Given the description of an element on the screen output the (x, y) to click on. 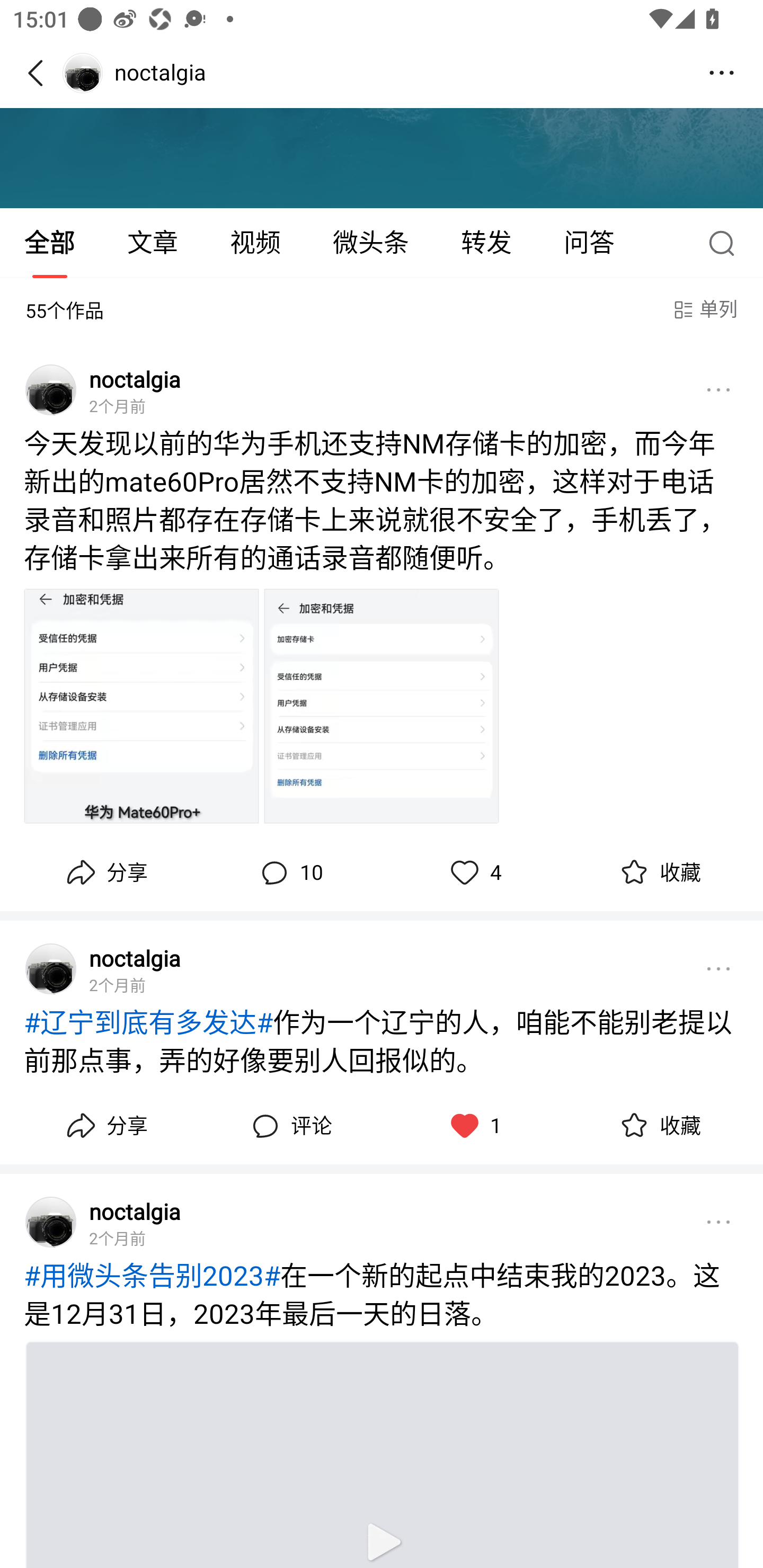
更多操作 (721, 72)
私信 (101, 76)
全部 (50, 242)
文章 (152, 242)
视频 (254, 242)
微头条 (370, 242)
转发 (485, 242)
问答 (588, 242)
搜索 (726, 242)
单列 当前单列点按切换至双列 (703, 310)
noctalgia (134, 378)
noctalgia头像 (50, 389)
更多 (718, 389)
内容图片1，点击识别 (141, 705)
内容图片2，点击识别 (381, 705)
分享 (104, 872)
评论,10 10 (288, 872)
,收藏 收藏 (658, 872)
noctalgia (134, 957)
noctalgia头像 (50, 968)
更多 (718, 968)
分享 (104, 1126)
评论, 评论 (288, 1126)
,收藏 收藏 (658, 1126)
noctalgia (134, 1211)
noctalgia头像 (50, 1222)
更多 (718, 1221)
